Given the description of an element on the screen output the (x, y) to click on. 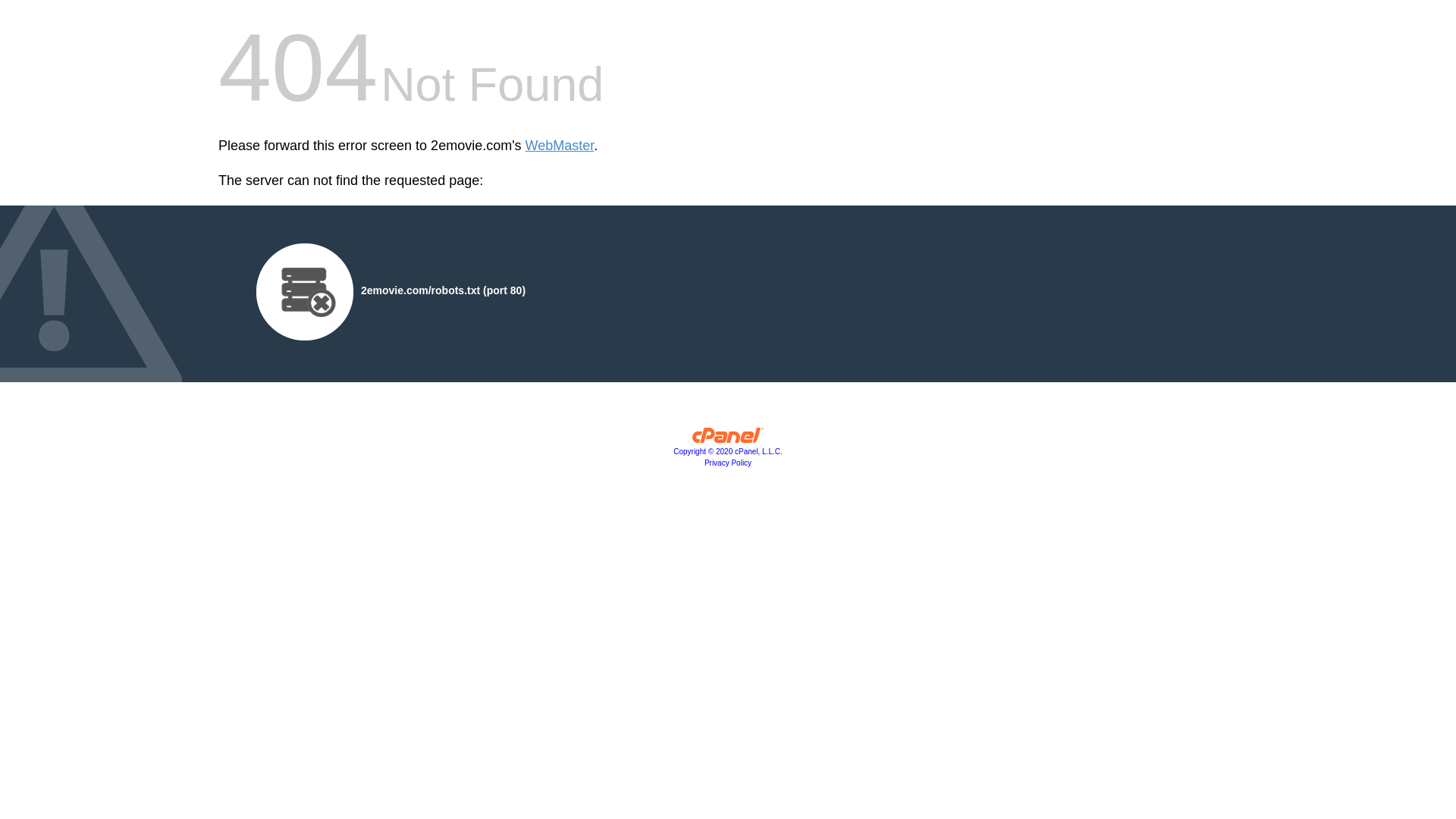
Privacy Policy Element type: text (727, 462)
cPanel, Inc. Element type: hover (728, 439)
WebMaster Element type: text (559, 145)
